Given the description of an element on the screen output the (x, y) to click on. 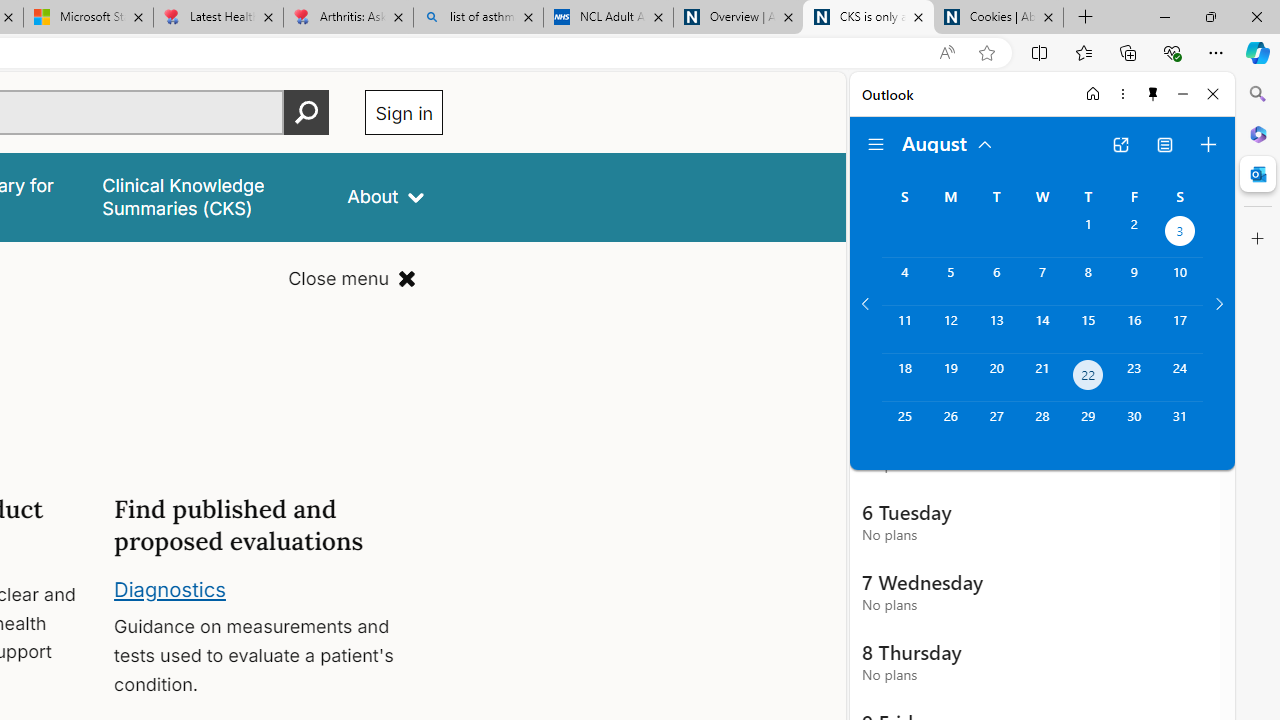
Friday, August 30, 2024.  (1134, 425)
Friday, August 23, 2024.  (1134, 377)
Wednesday, August 14, 2024.  (1042, 329)
Diagnostics (169, 588)
August (948, 141)
Perform search (307, 112)
Wednesday, August 21, 2024.  (1042, 377)
Sunday, August 4, 2024.  (904, 281)
